Given the description of an element on the screen output the (x, y) to click on. 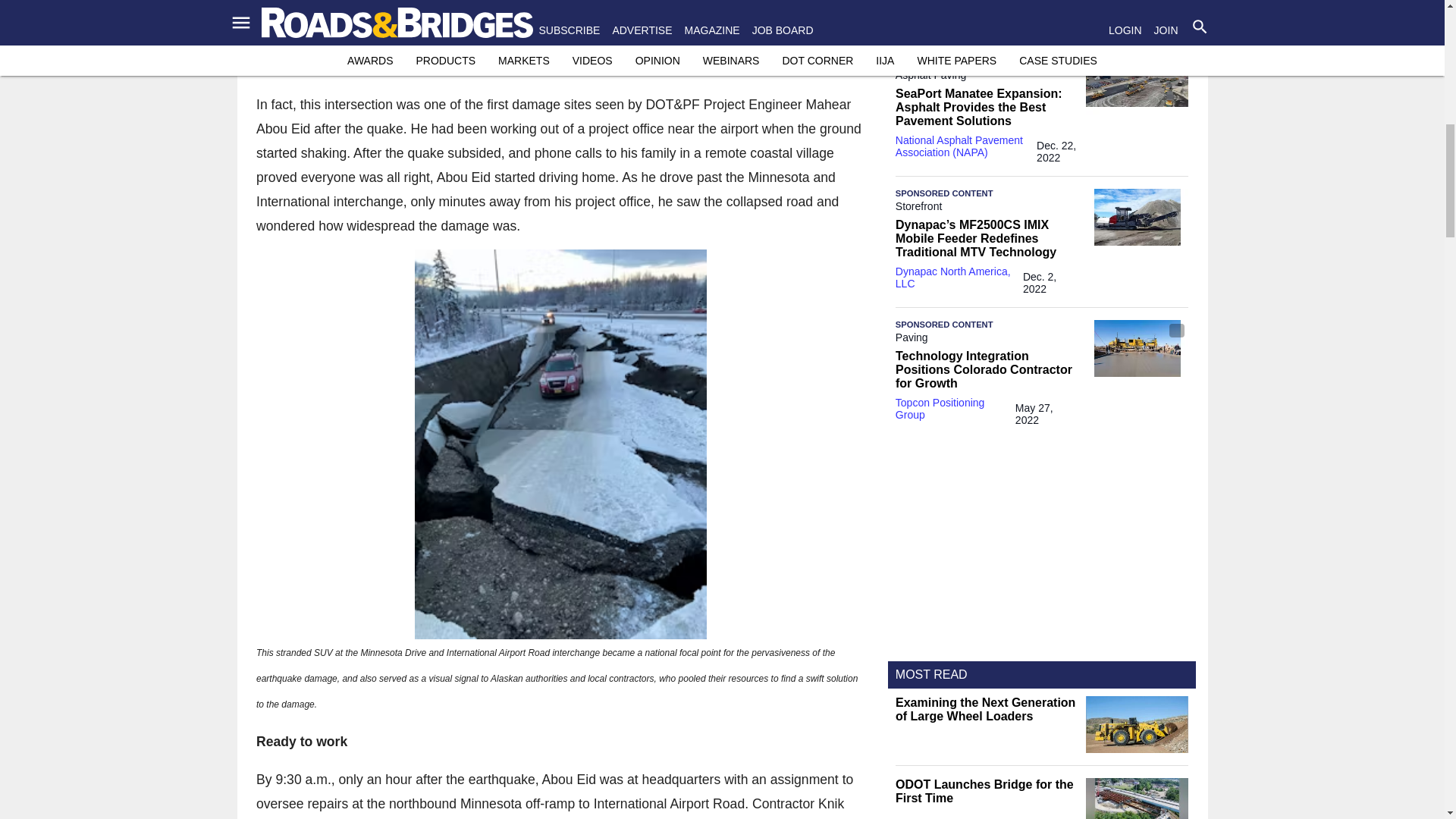
Nov-30-on-the-ground-2 (559, 444)
